Given the description of an element on the screen output the (x, y) to click on. 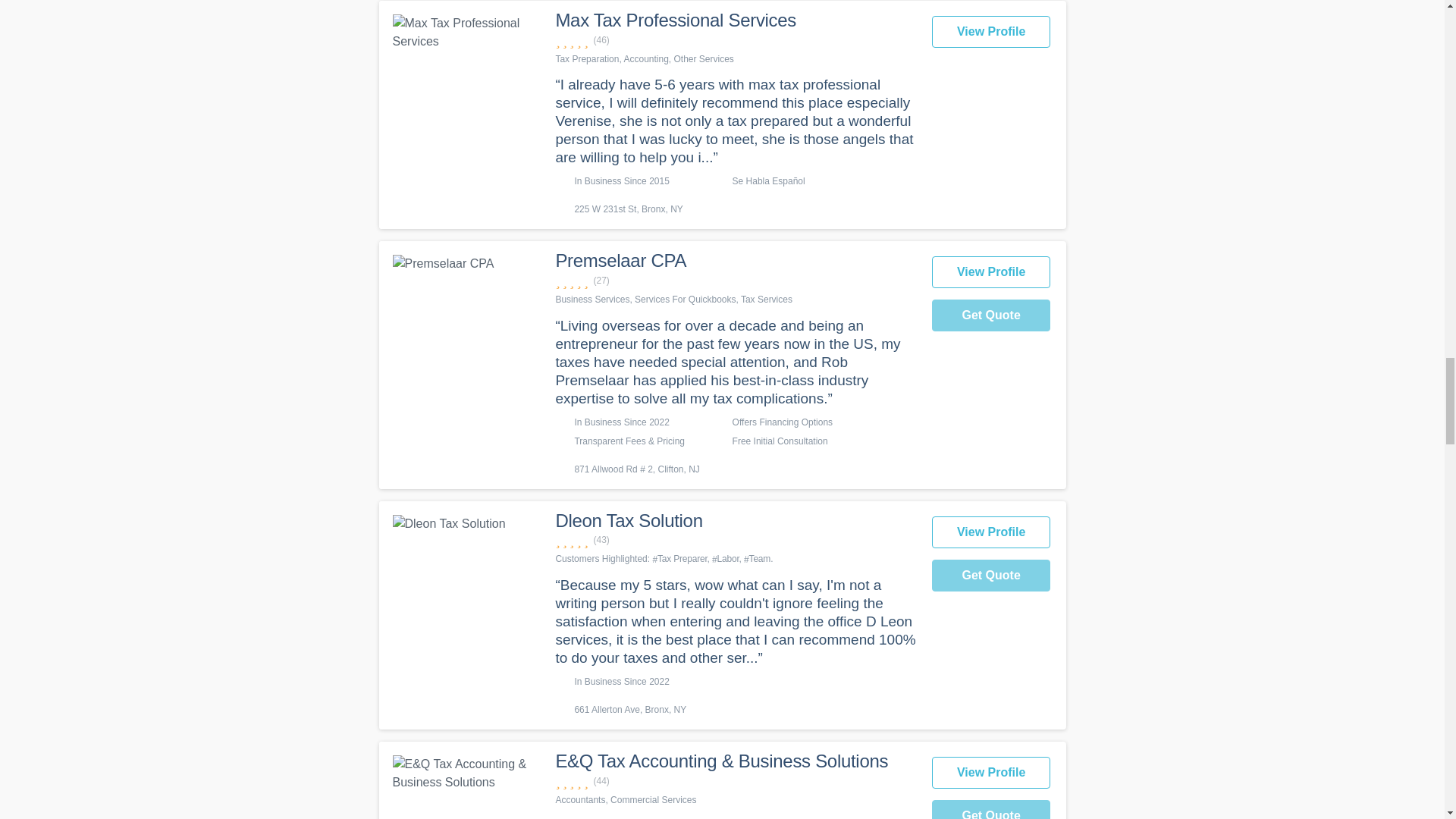
4.8 (734, 780)
4.9 (734, 40)
5.0 (734, 540)
5.0 (734, 280)
